Given the description of an element on the screen output the (x, y) to click on. 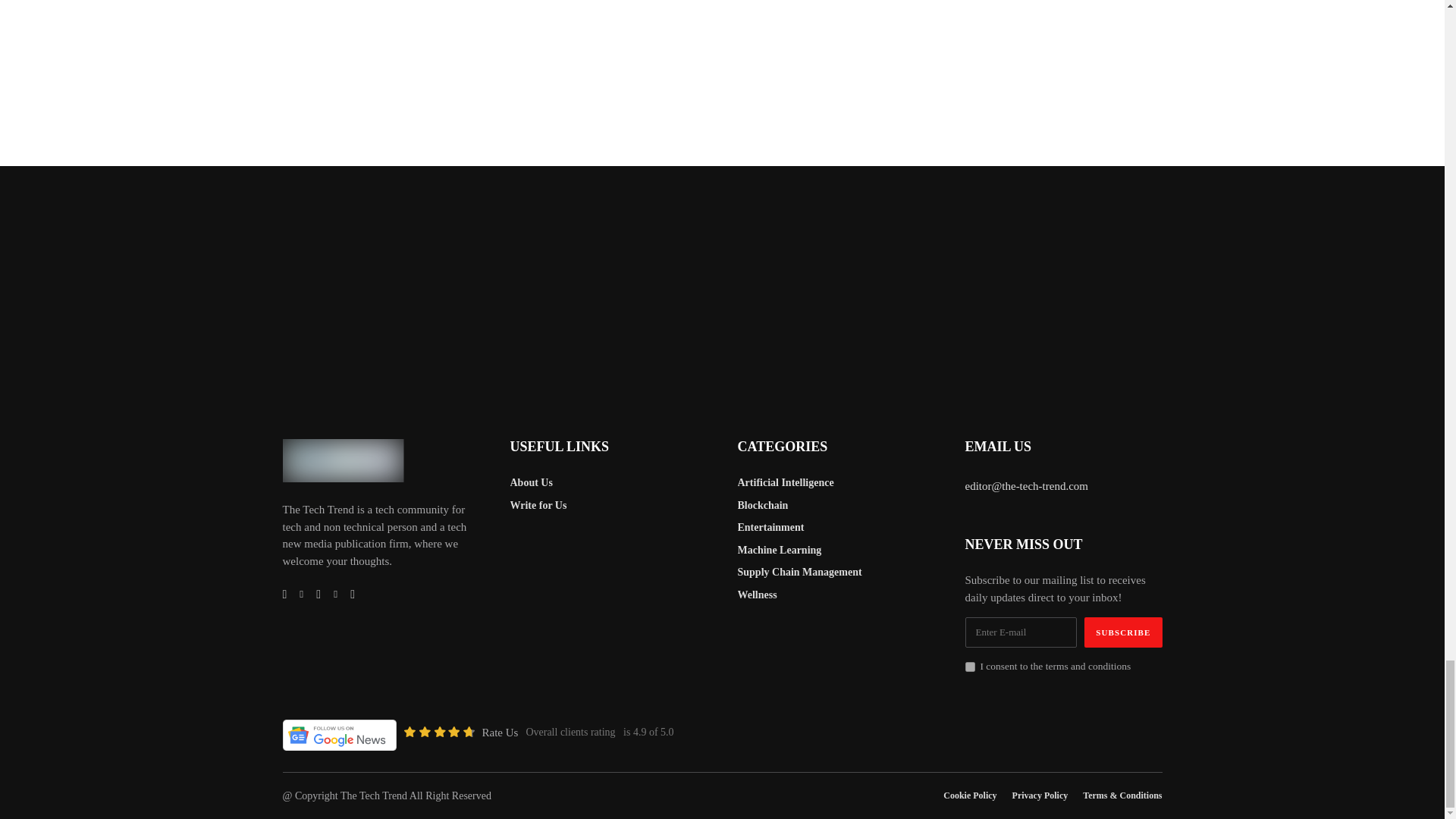
Subscribe (1122, 632)
1 (968, 666)
